Given the description of an element on the screen output the (x, y) to click on. 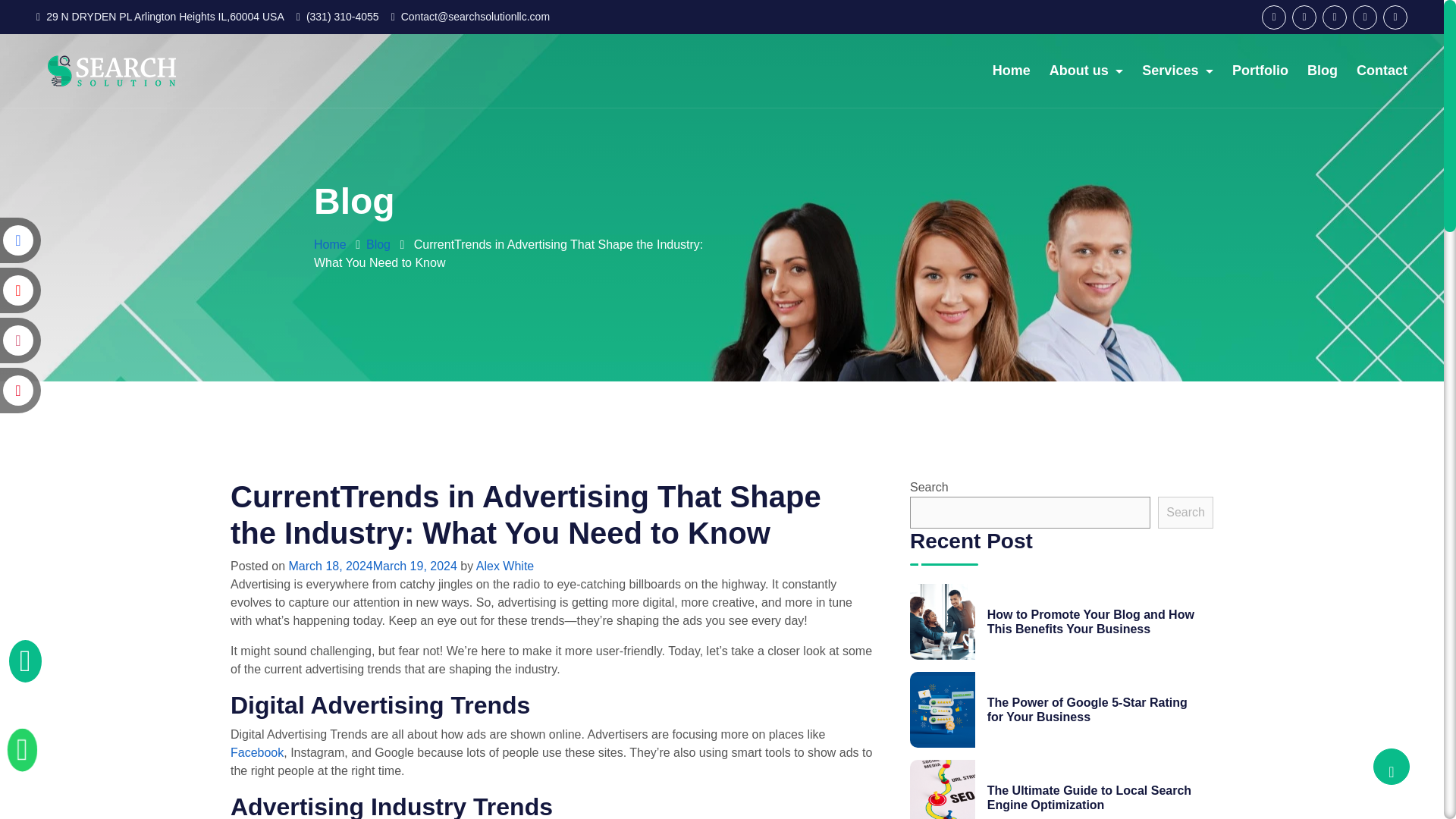
Services (1176, 70)
About us (1086, 70)
